Given the description of an element on the screen output the (x, y) to click on. 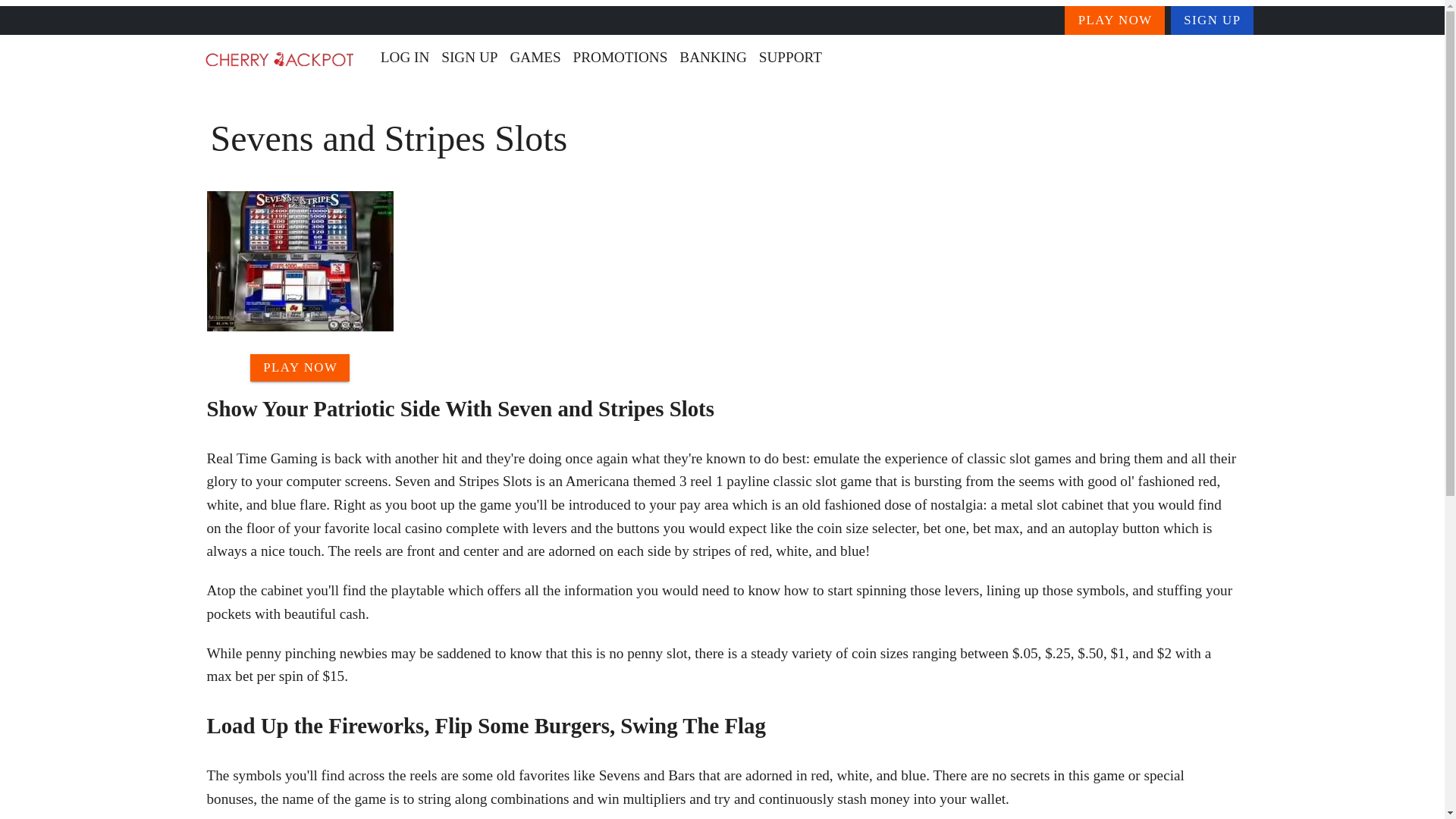
PROMOTIONS (620, 57)
PLAY NOW (1114, 20)
SIGN UP (469, 57)
LOG IN (404, 57)
SUPPORT (790, 57)
BANKING (712, 57)
SIGN UP (1211, 20)
GAMES (534, 57)
PLAY NOW (300, 367)
